Given the description of an element on the screen output the (x, y) to click on. 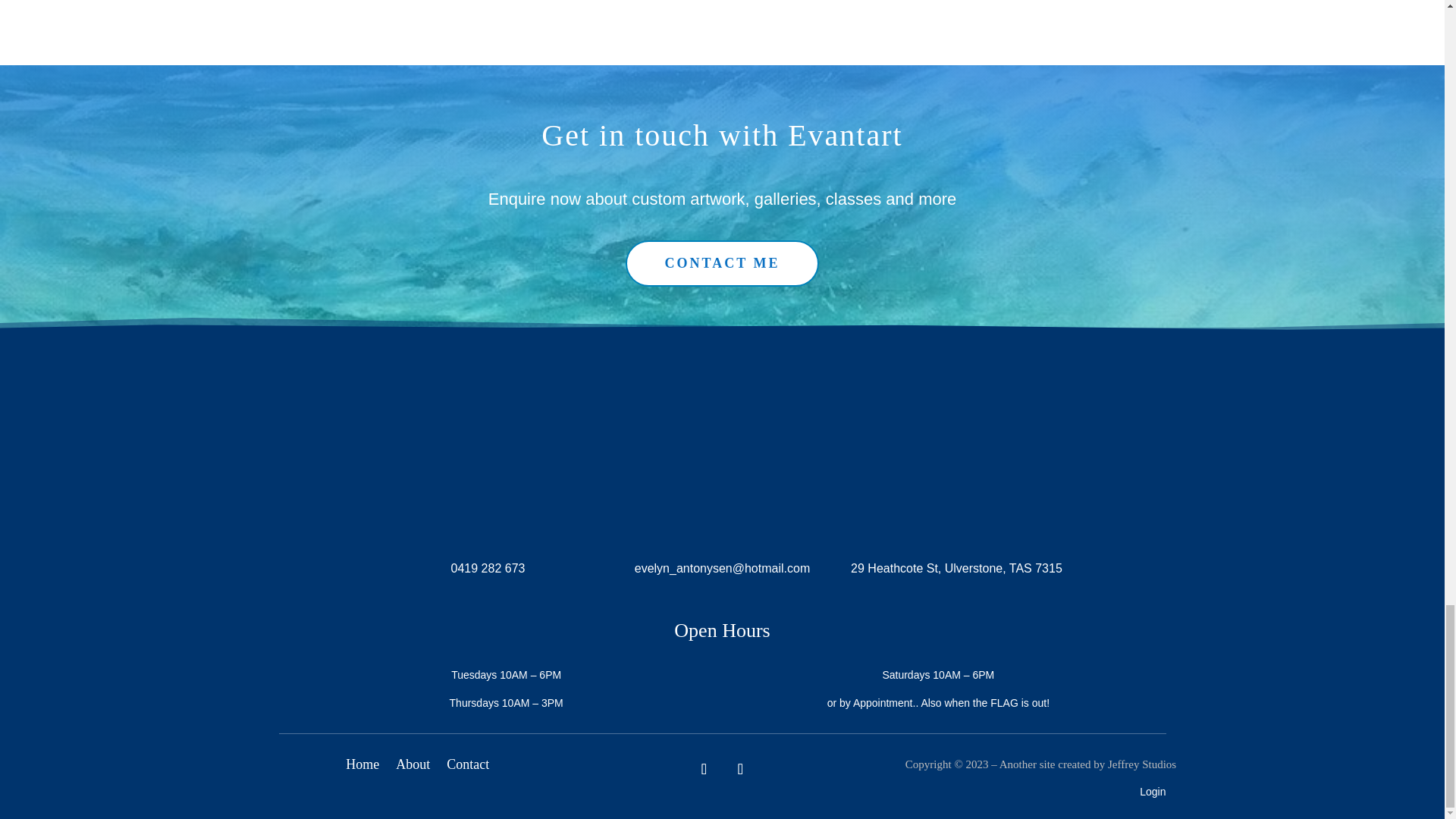
About (412, 767)
Home (362, 767)
Contact (467, 767)
CONTACT ME (722, 263)
Follow on Facebook (703, 768)
Login (1153, 791)
Follow on Instagram (740, 768)
